Given the description of an element on the screen output the (x, y) to click on. 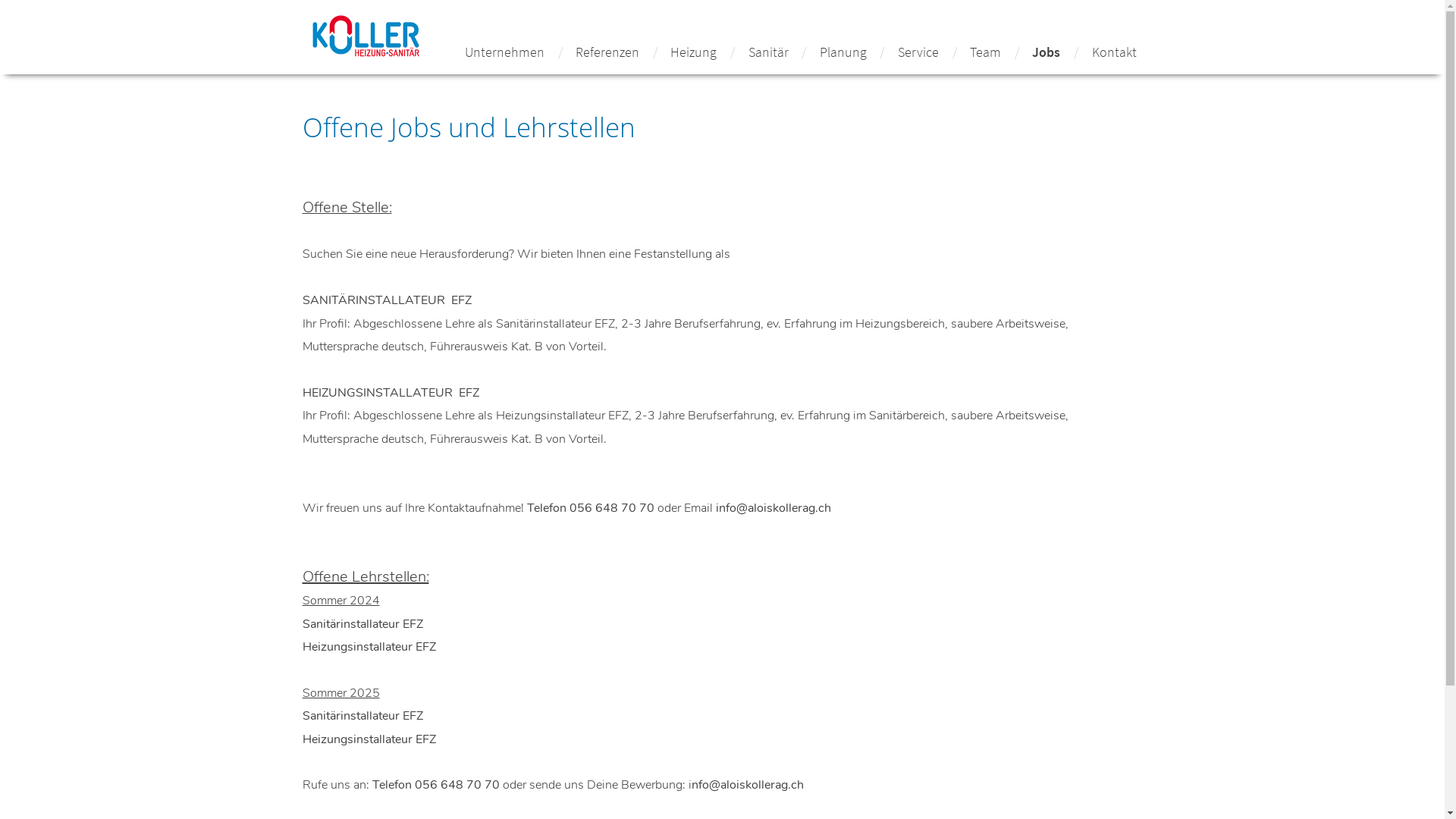
Kontakt Element type: text (1113, 51)
Referenzen Element type: text (607, 51)
Team Element type: text (985, 51)
Planung Element type: text (842, 51)
Service Element type: text (917, 51)
Unternehmen Element type: text (504, 51)
Jobs Element type: text (1046, 51)
Heizung Element type: text (693, 51)
